Given the description of an element on the screen output the (x, y) to click on. 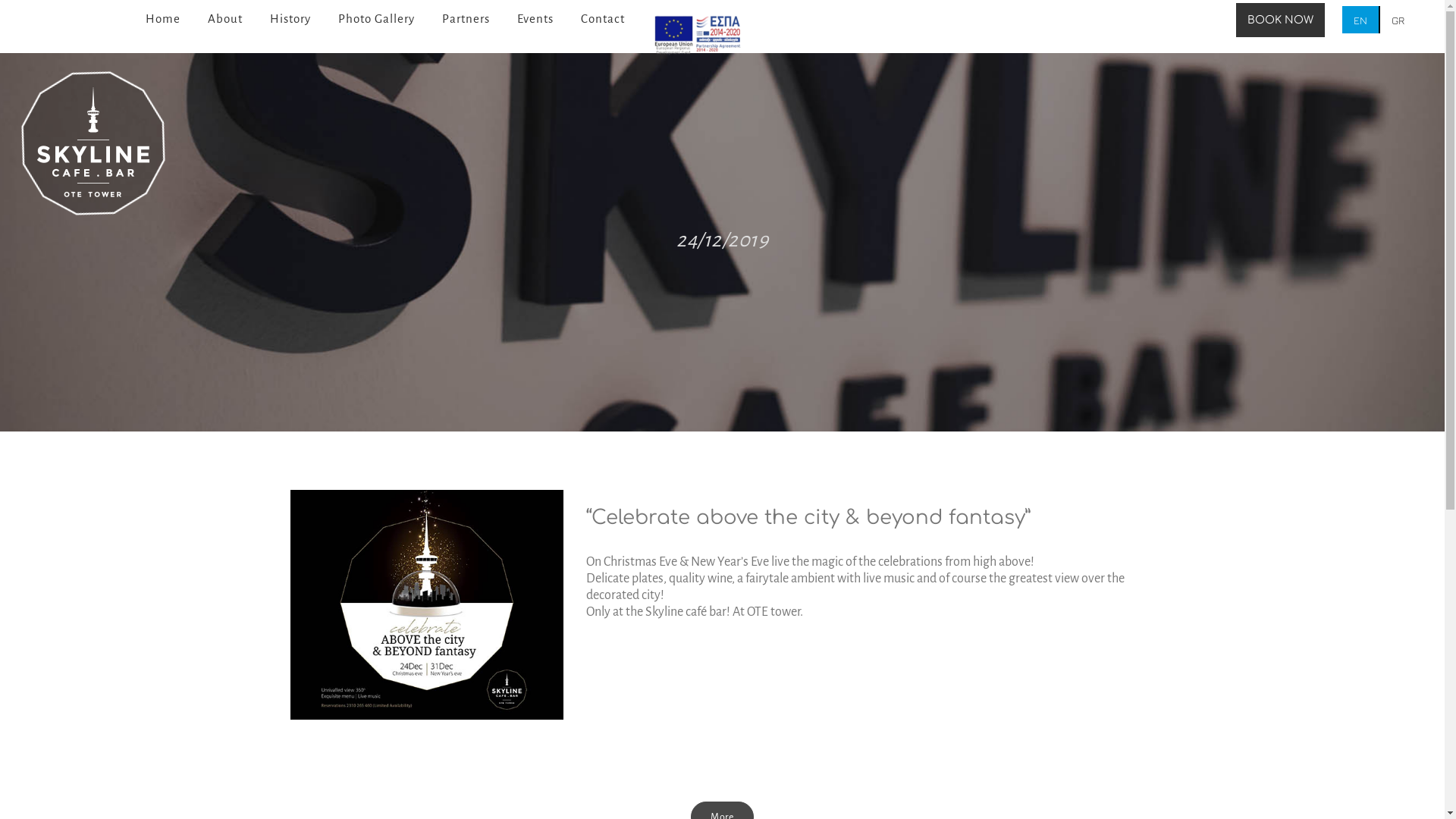
Partners Element type: text (465, 18)
EN Element type: text (1360, 19)
Home Element type: text (162, 18)
About Element type: text (225, 18)
Contact Element type: text (602, 18)
BOOK NOW Element type: text (1280, 20)
History Element type: text (290, 18)
Photo Gallery Element type: text (376, 18)
GR Element type: text (1397, 19)
Events Element type: text (535, 18)
